Given the description of an element on the screen output the (x, y) to click on. 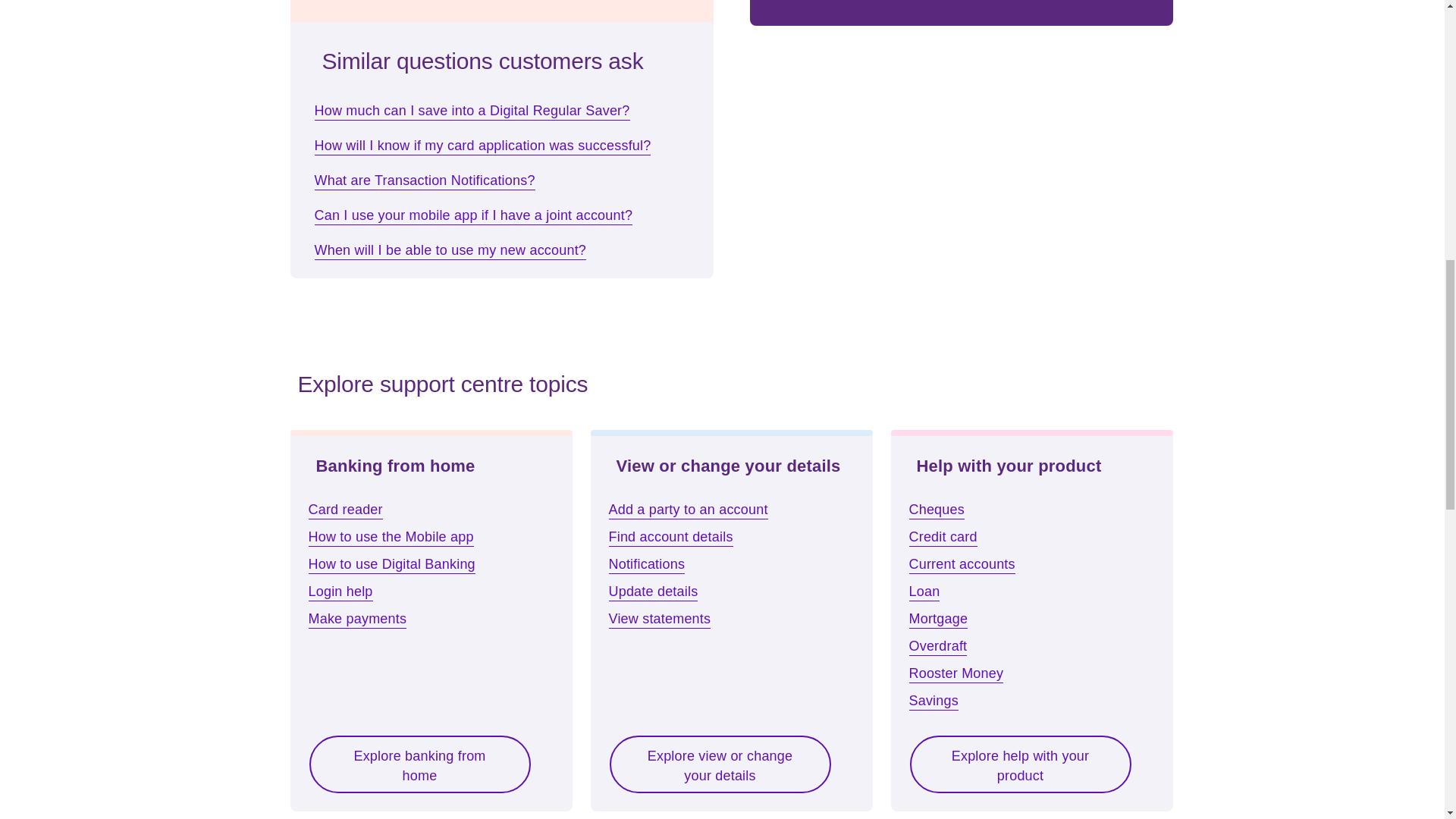
Explore help with your product (1019, 764)
Explore banking from home (419, 764)
Explore view or change your details (719, 764)
